Given the description of an element on the screen output the (x, y) to click on. 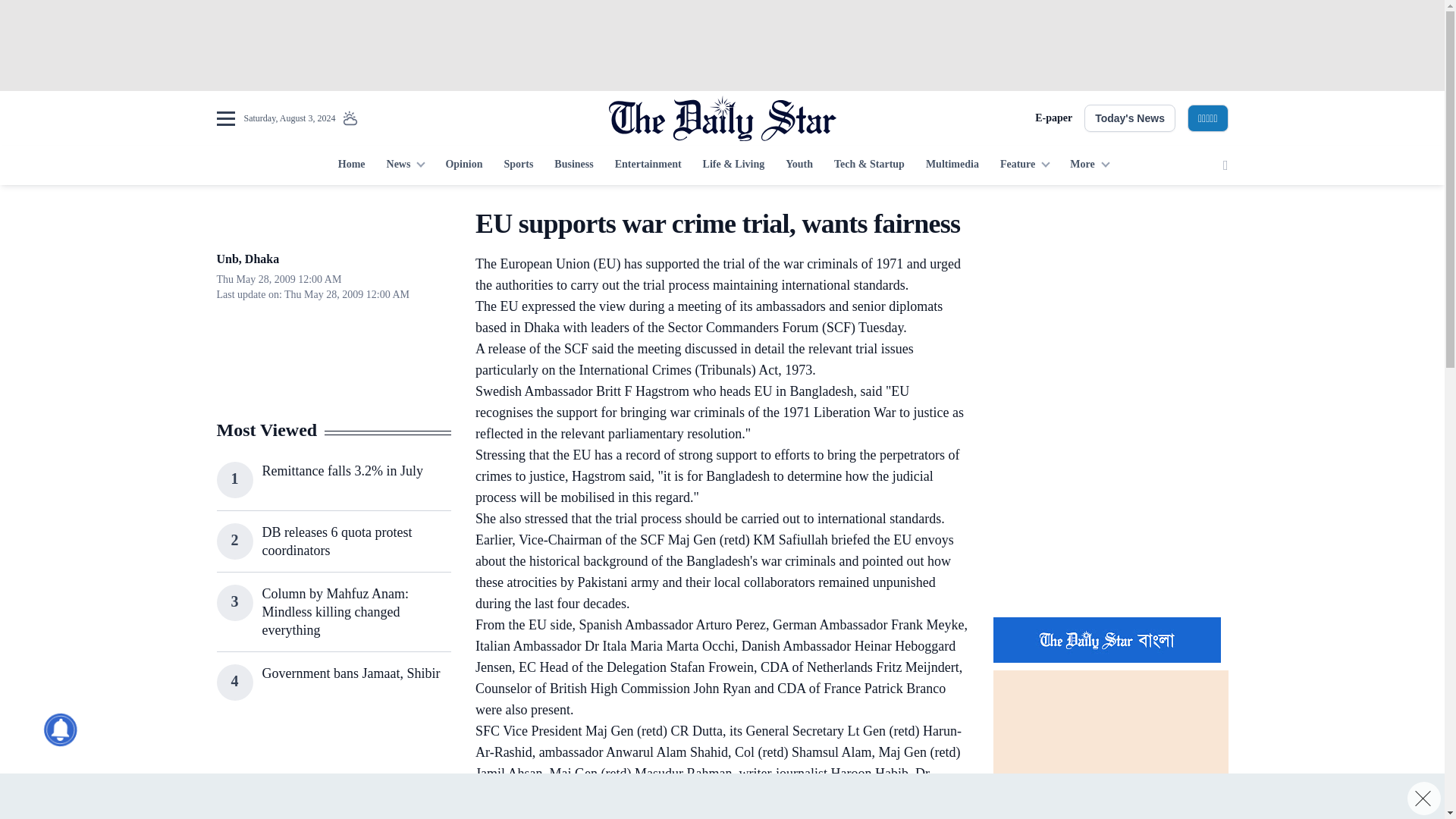
E-paper (1053, 117)
3rd party ad content (721, 45)
Entertainment (647, 165)
Youth (799, 165)
News (405, 165)
Home (351, 165)
Today's News (1129, 117)
Opinion (463, 165)
3rd party ad content (332, 775)
3rd party ad content (1110, 506)
